Given the description of an element on the screen output the (x, y) to click on. 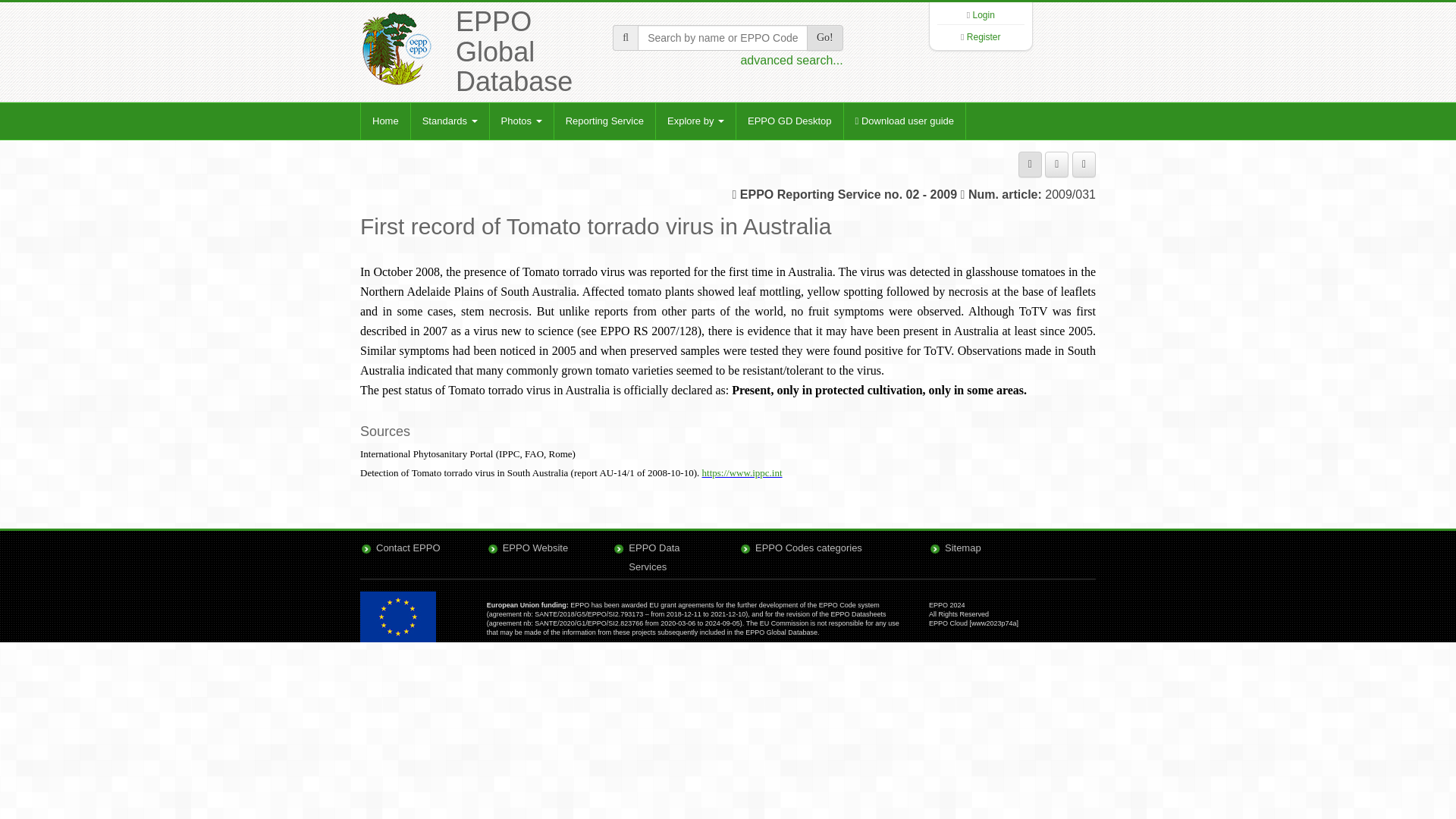
Home (384, 121)
Photos (521, 121)
Print (1029, 164)
Go! (824, 37)
Standards (449, 121)
Share on facebook (1056, 164)
Login (983, 14)
Explore by (695, 121)
Share on twitter (1083, 164)
advanced search... (791, 60)
